Given the description of an element on the screen output the (x, y) to click on. 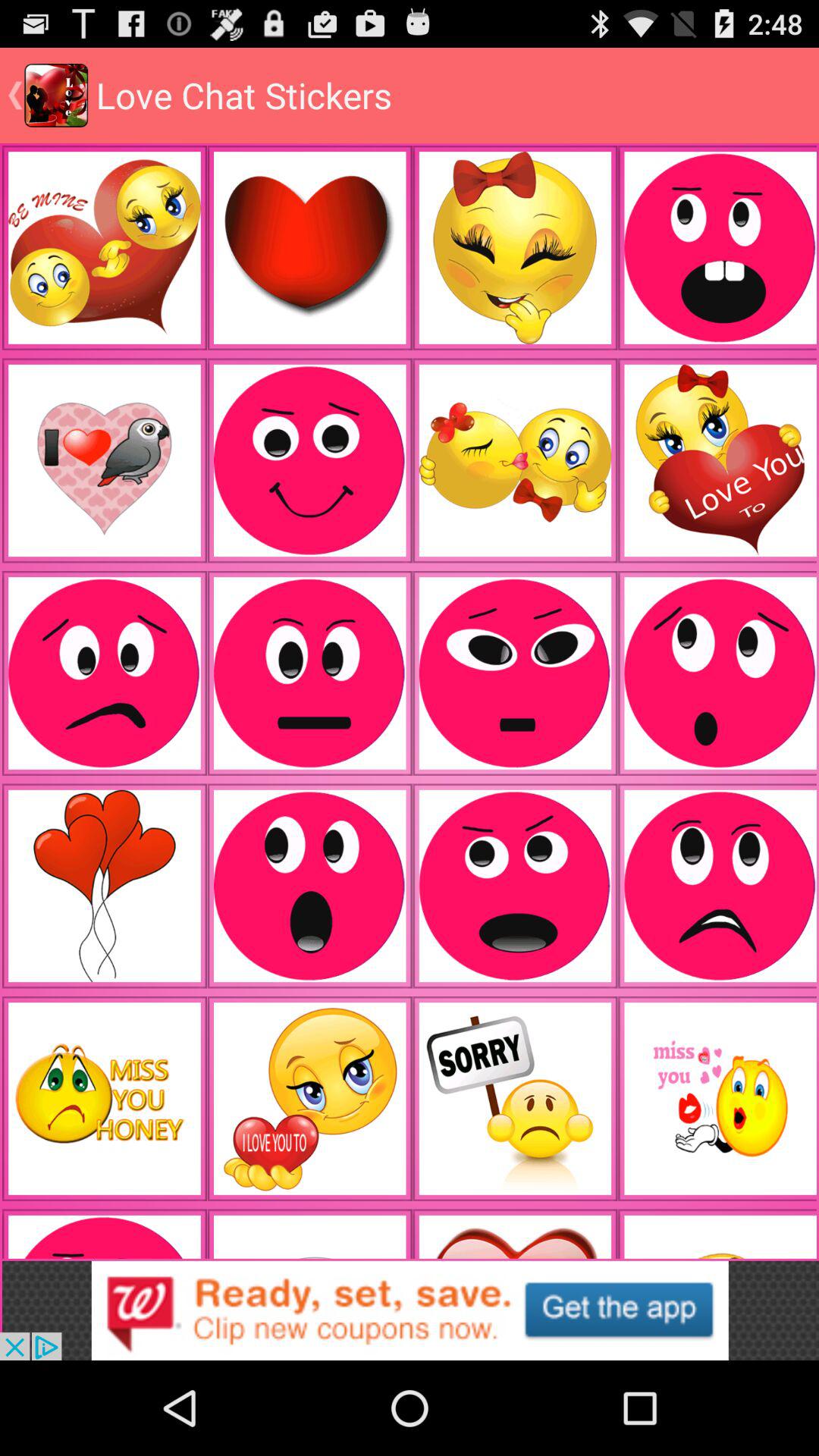
go to the walgreen 's website (409, 1310)
